Given the description of an element on the screen output the (x, y) to click on. 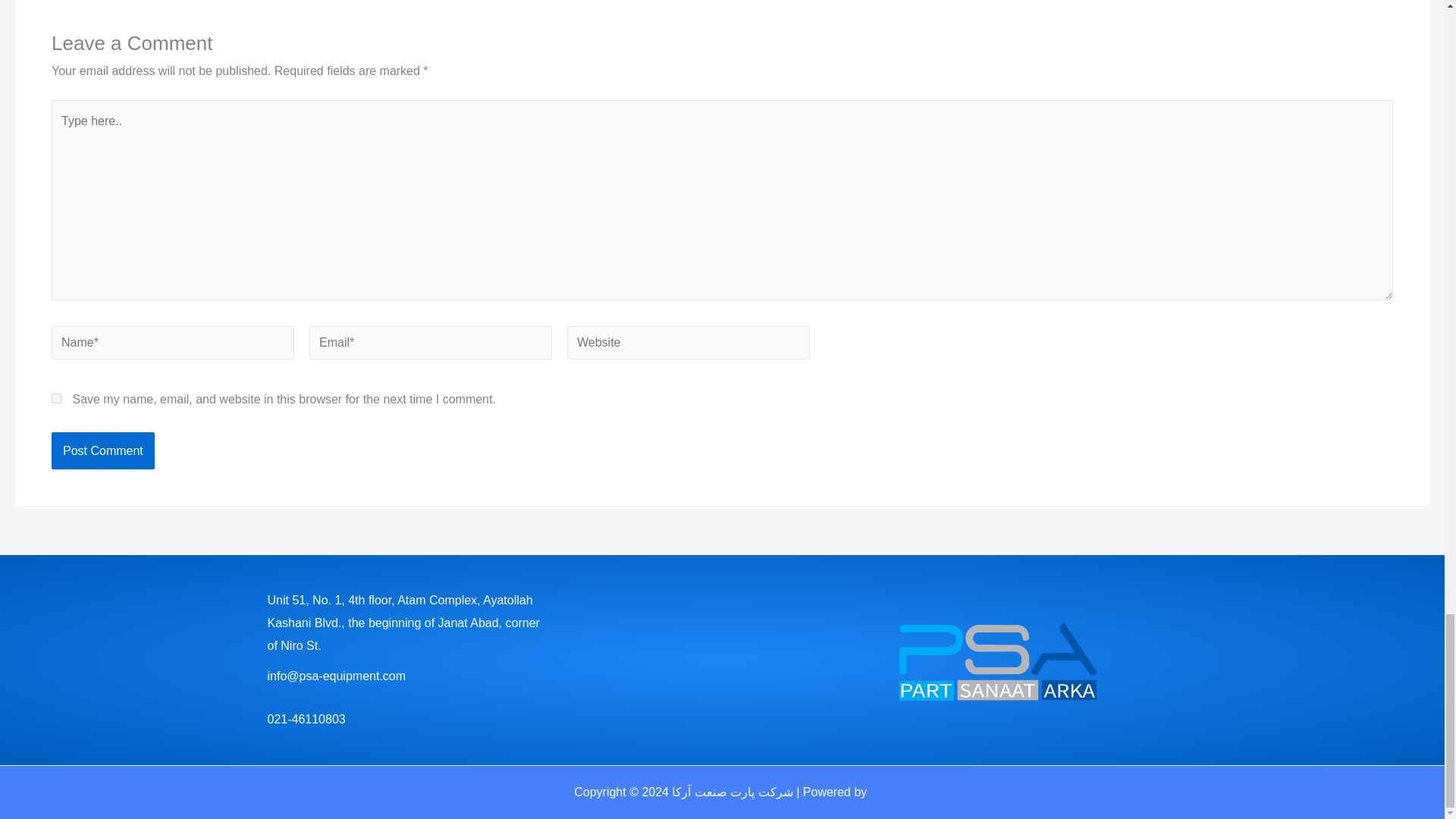
Post Comment (102, 451)
Post Comment (102, 451)
yes (55, 398)
